Given the description of an element on the screen output the (x, y) to click on. 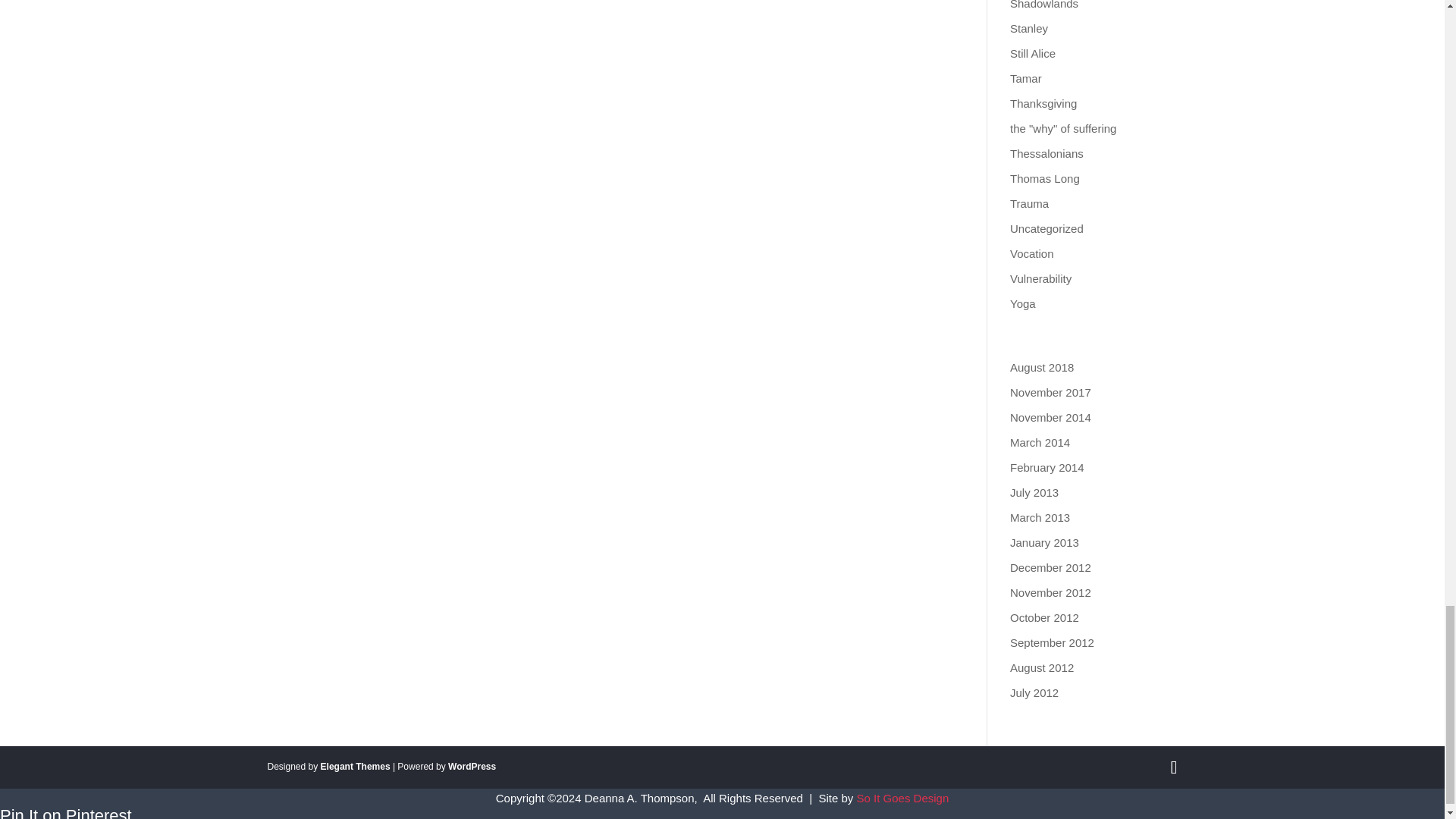
Premium WordPress Themes (355, 766)
